Given the description of an element on the screen output the (x, y) to click on. 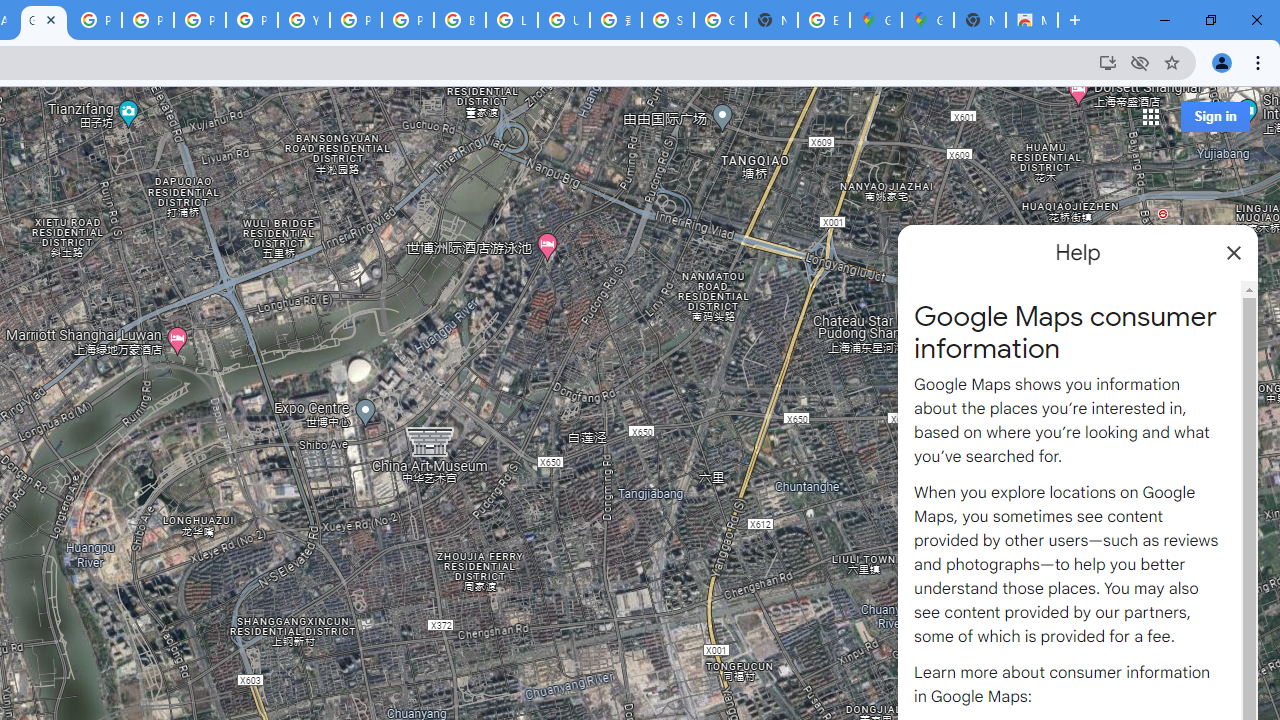
Close Help Panel (1234, 252)
YouTube (303, 20)
Privacy Help Center - Policies Help (200, 20)
Google Maps (43, 20)
Google Maps (927, 20)
Policy Accountability and Transparency - Transparency Center (95, 20)
Install Google Maps (1107, 62)
